Given the description of an element on the screen output the (x, y) to click on. 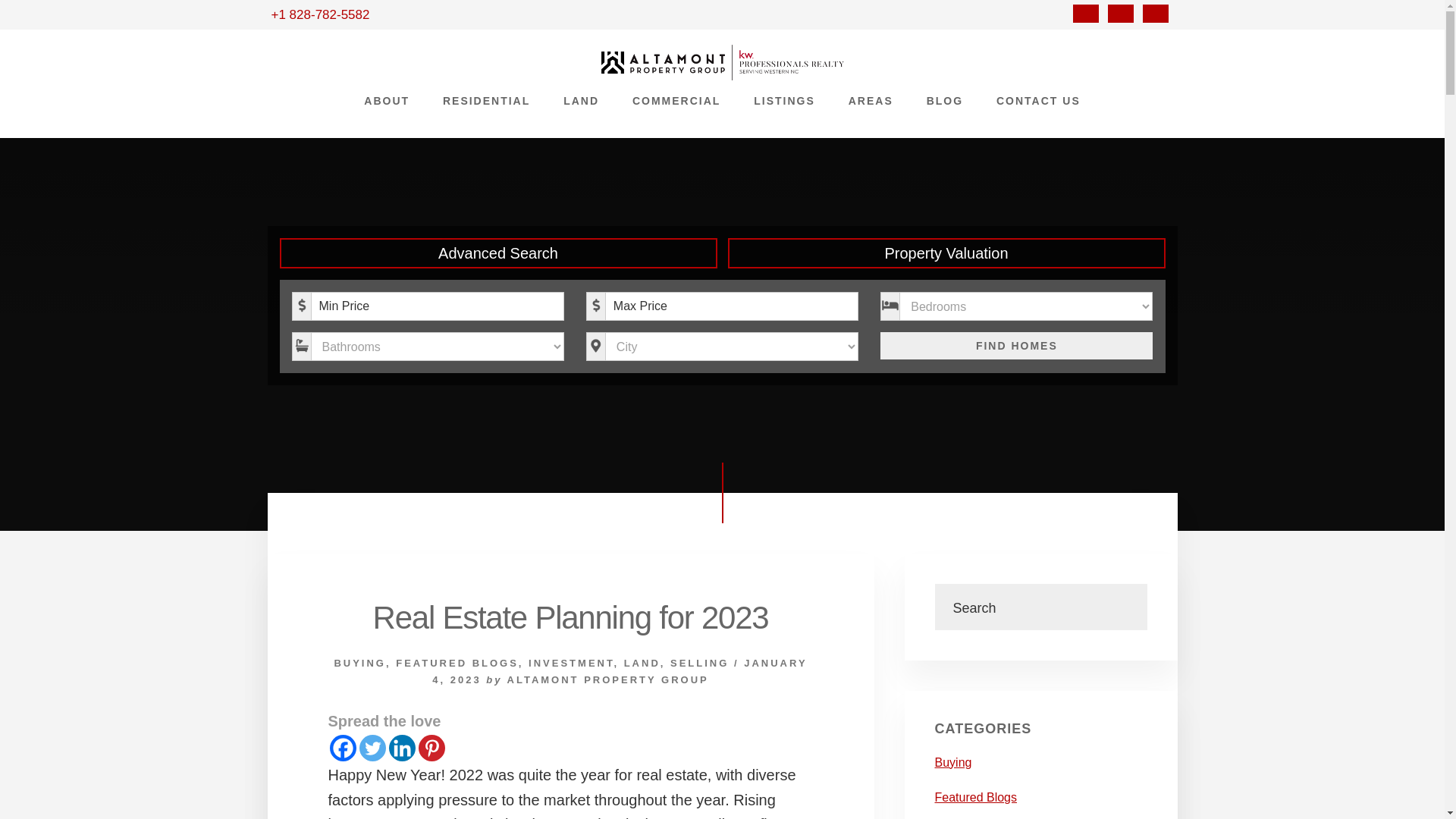
Instagram (1120, 13)
Twitter (372, 747)
LISTINGS (783, 101)
Facebook (342, 747)
Pinterest (432, 747)
Facebook (1086, 13)
Zillow (1155, 13)
